Given the description of an element on the screen output the (x, y) to click on. 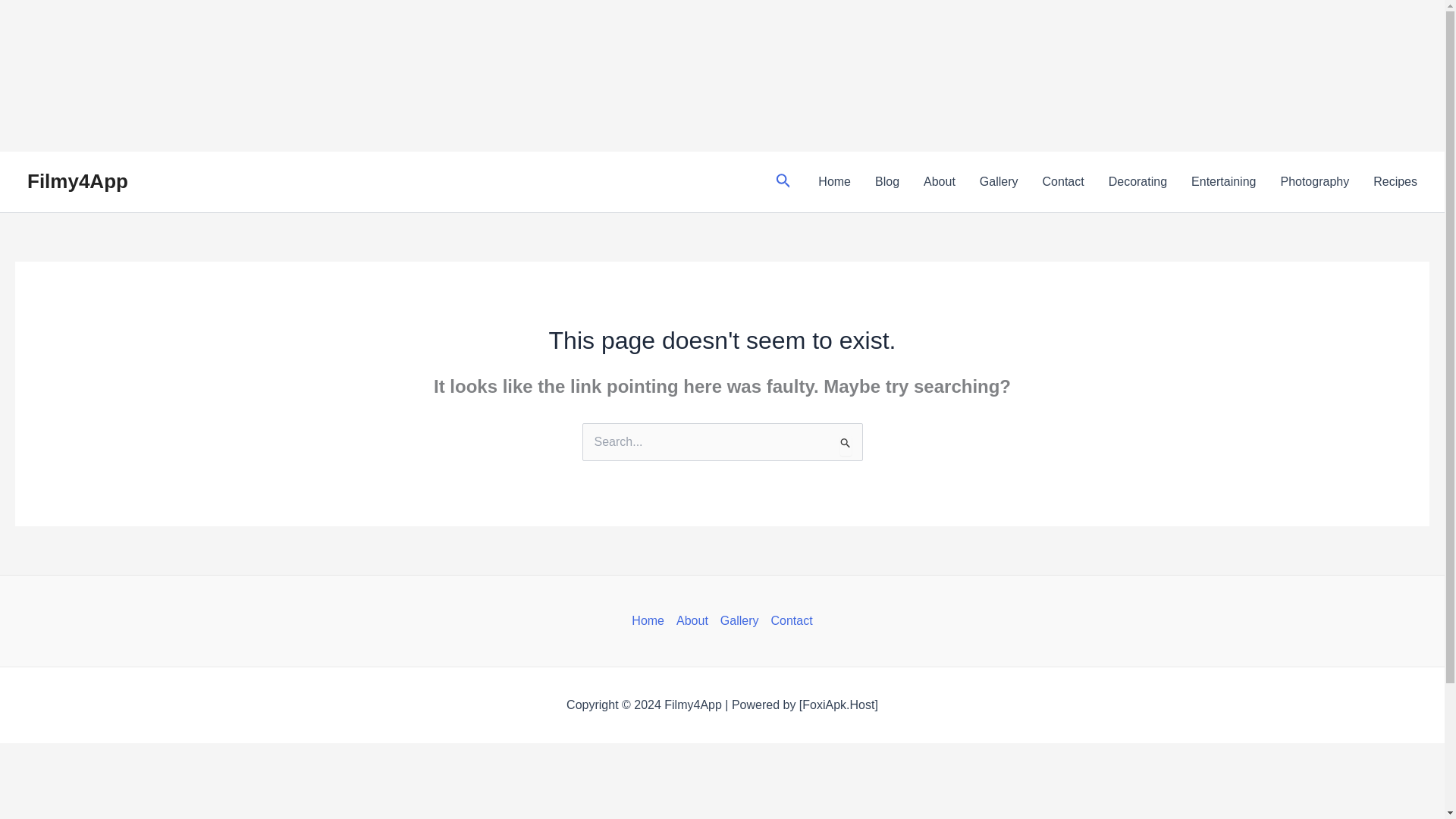
Decorating (1137, 181)
Gallery (739, 620)
Recipes (1395, 181)
Filmy4App (77, 180)
Entertaining (1223, 181)
Gallery (999, 181)
Contact (1063, 181)
Photography (1314, 181)
Contact (788, 620)
Home (834, 181)
About (939, 181)
About (691, 620)
Home (650, 620)
